Given the description of an element on the screen output the (x, y) to click on. 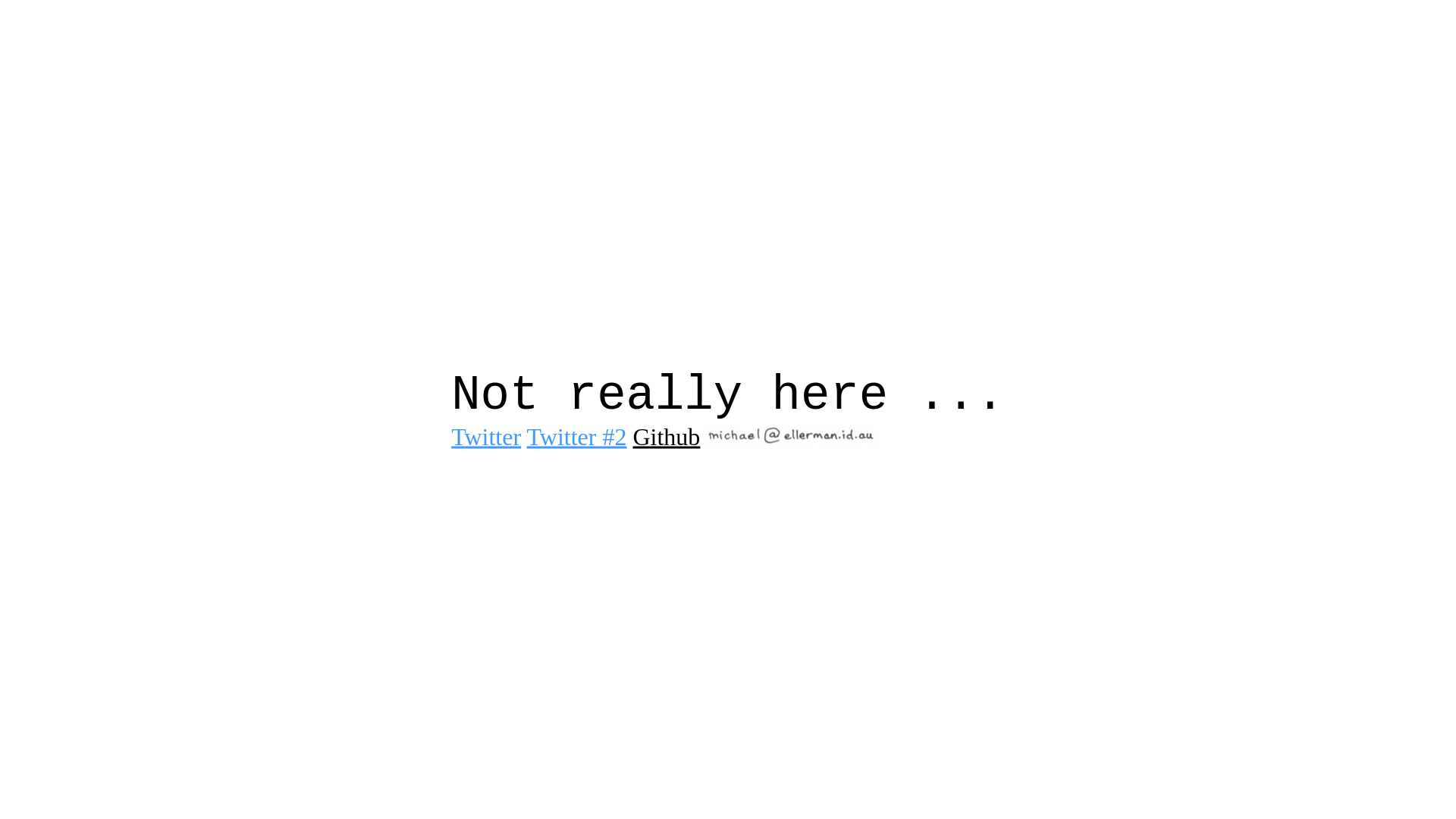
Twitter Element type: text (485, 436)
Twitter #2 Element type: text (577, 436)
Github Element type: text (665, 436)
